Given the description of an element on the screen output the (x, y) to click on. 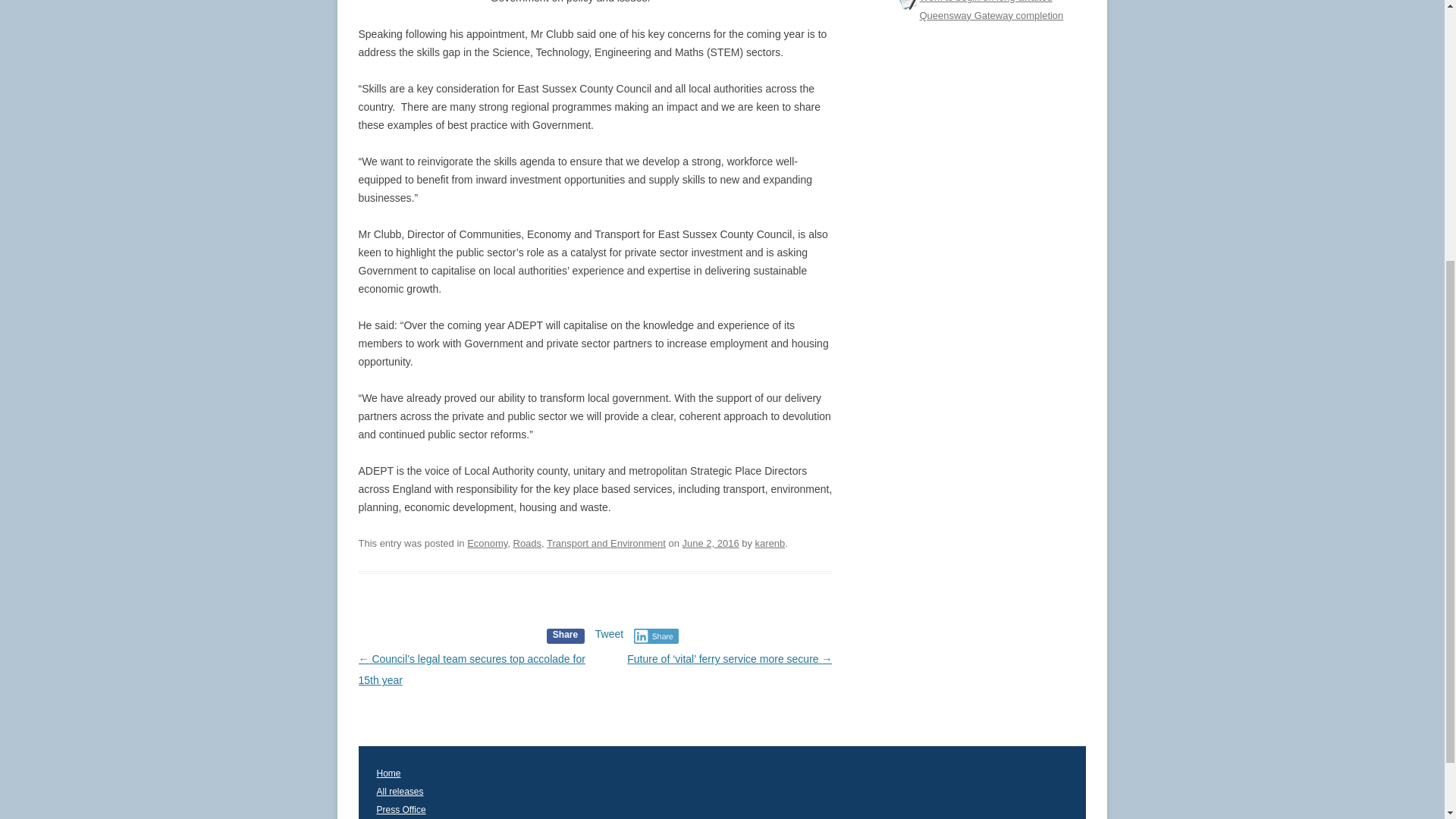
View all posts by karenb (770, 542)
Share (643, 643)
June 2, 2016 (710, 542)
Home (383, 773)
Share (565, 633)
Economy (486, 542)
karenb (770, 542)
Share (655, 635)
Press Office (395, 809)
Roads (527, 542)
